Given the description of an element on the screen output the (x, y) to click on. 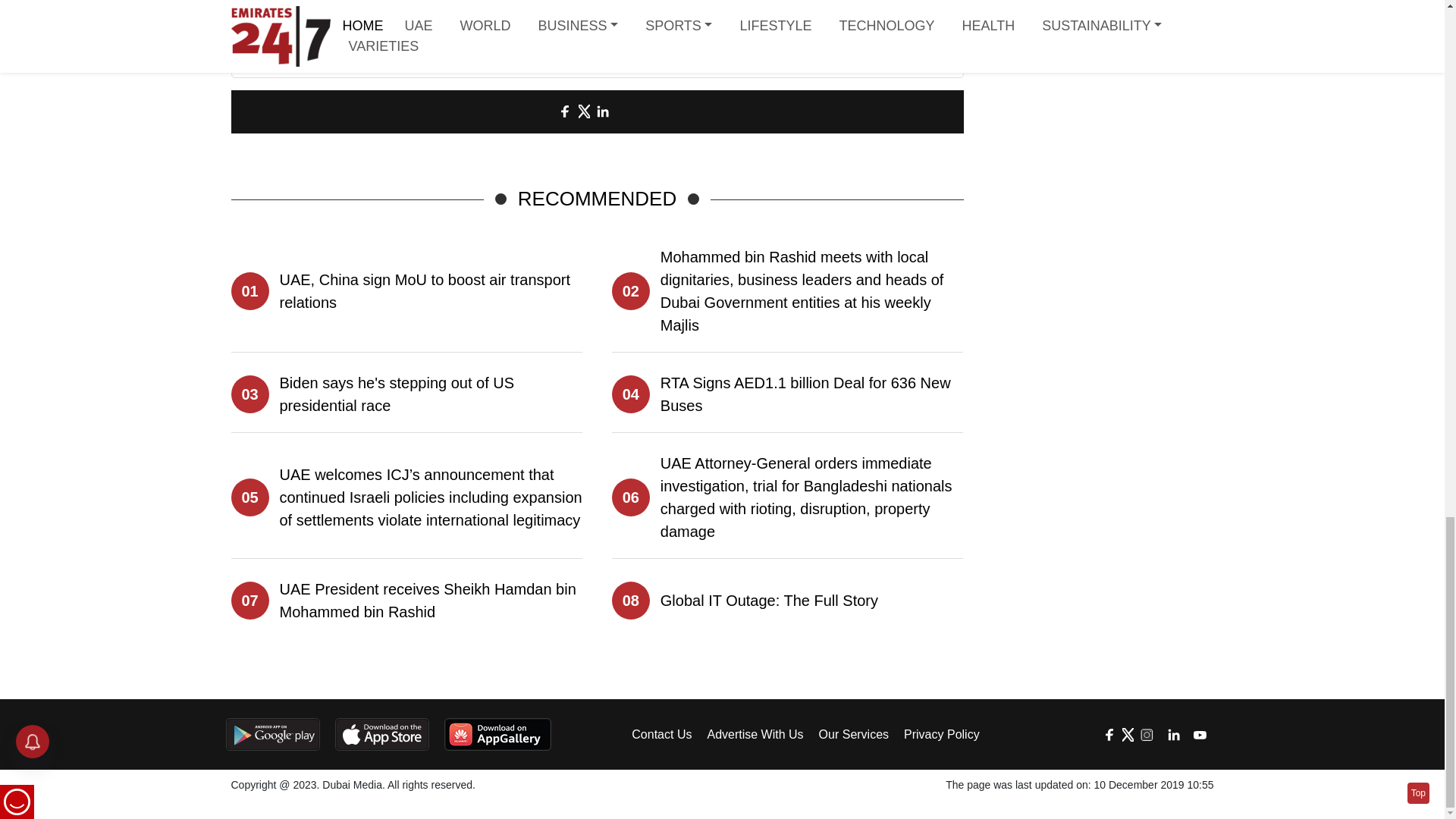
Google News. (703, 32)
